Given the description of an element on the screen output the (x, y) to click on. 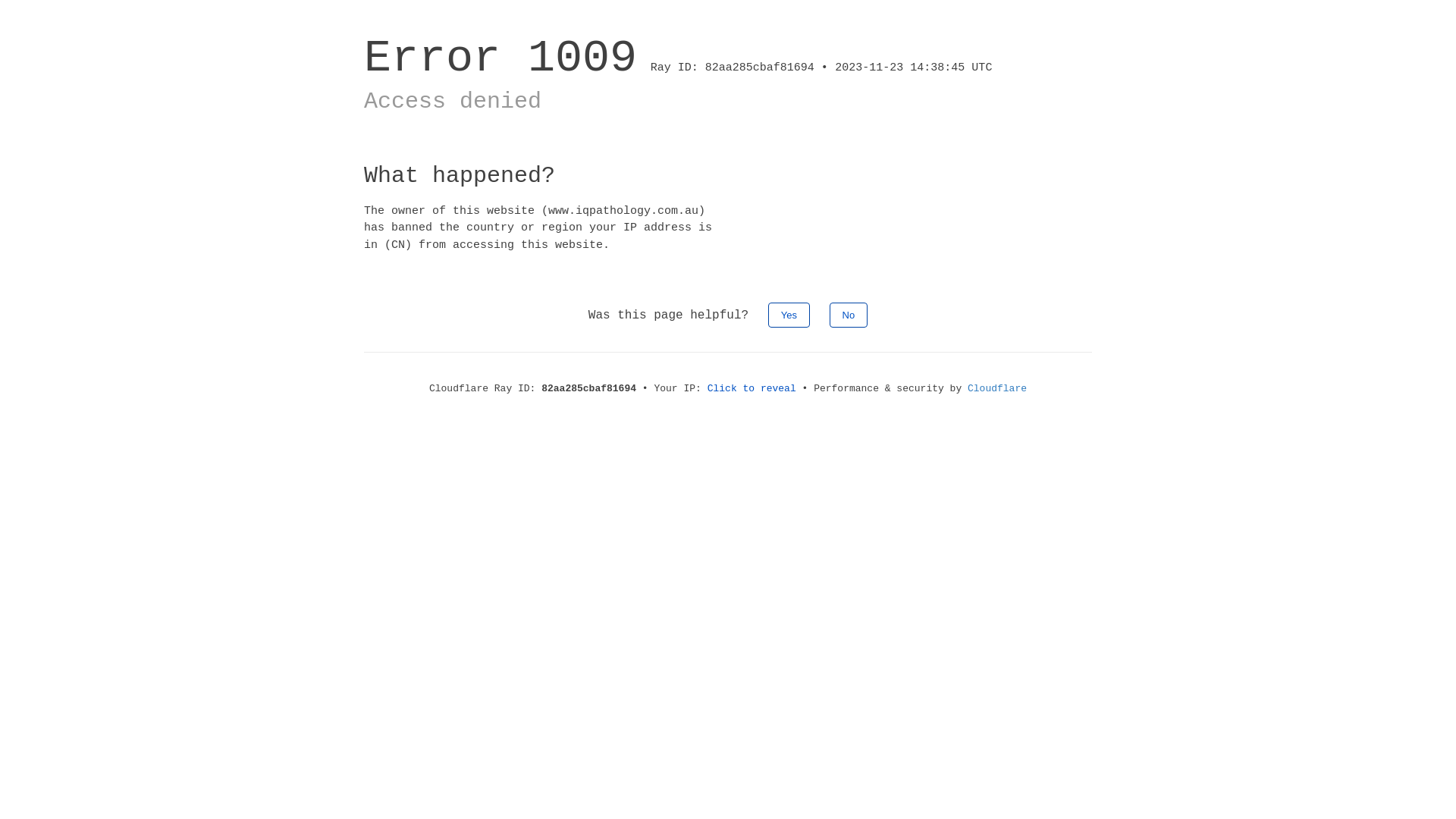
Click to reveal Element type: text (751, 388)
Yes Element type: text (788, 314)
Cloudflare Element type: text (996, 388)
No Element type: text (848, 314)
